Given the description of an element on the screen output the (x, y) to click on. 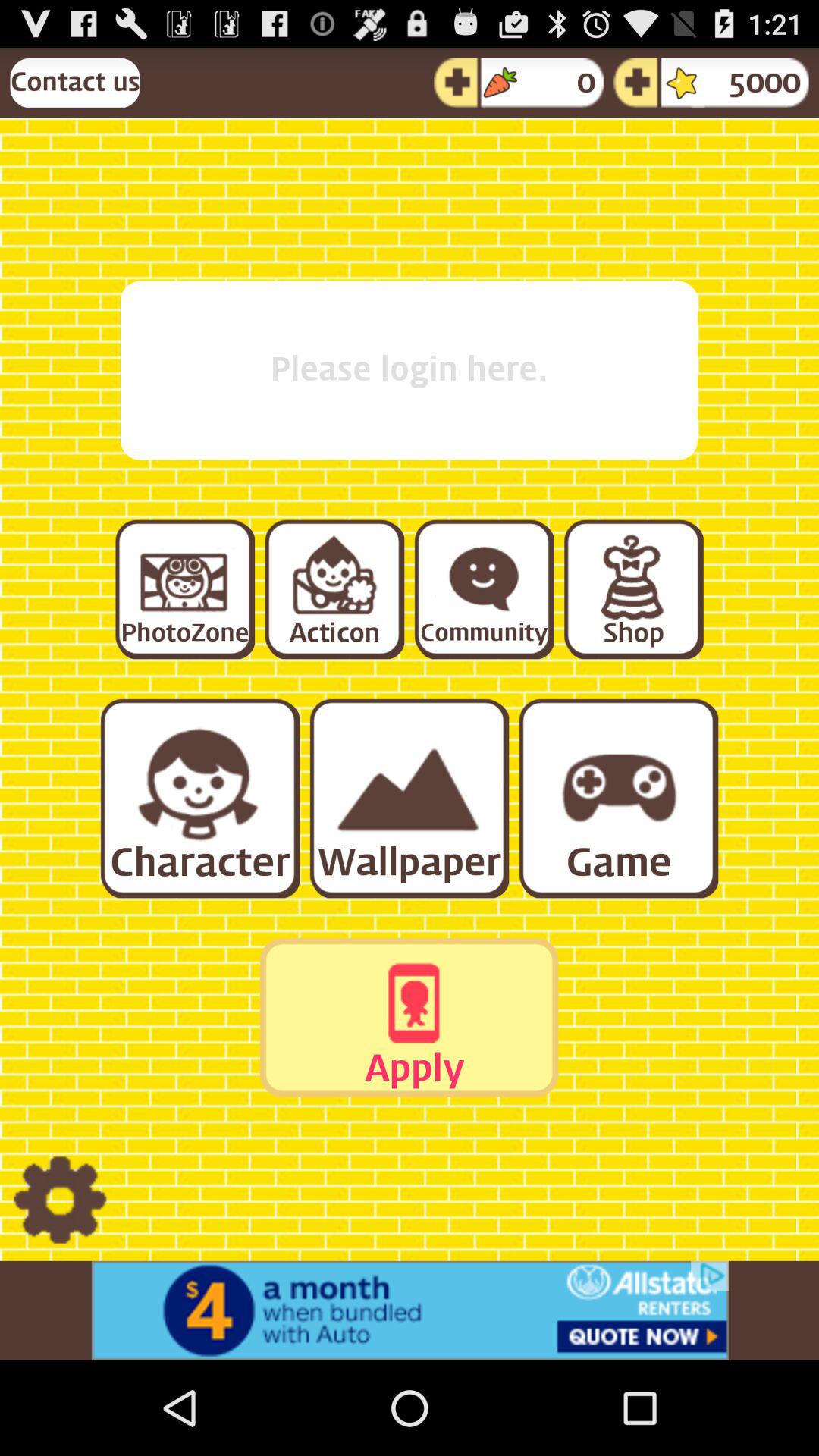
switch to game option (617, 797)
